Given the description of an element on the screen output the (x, y) to click on. 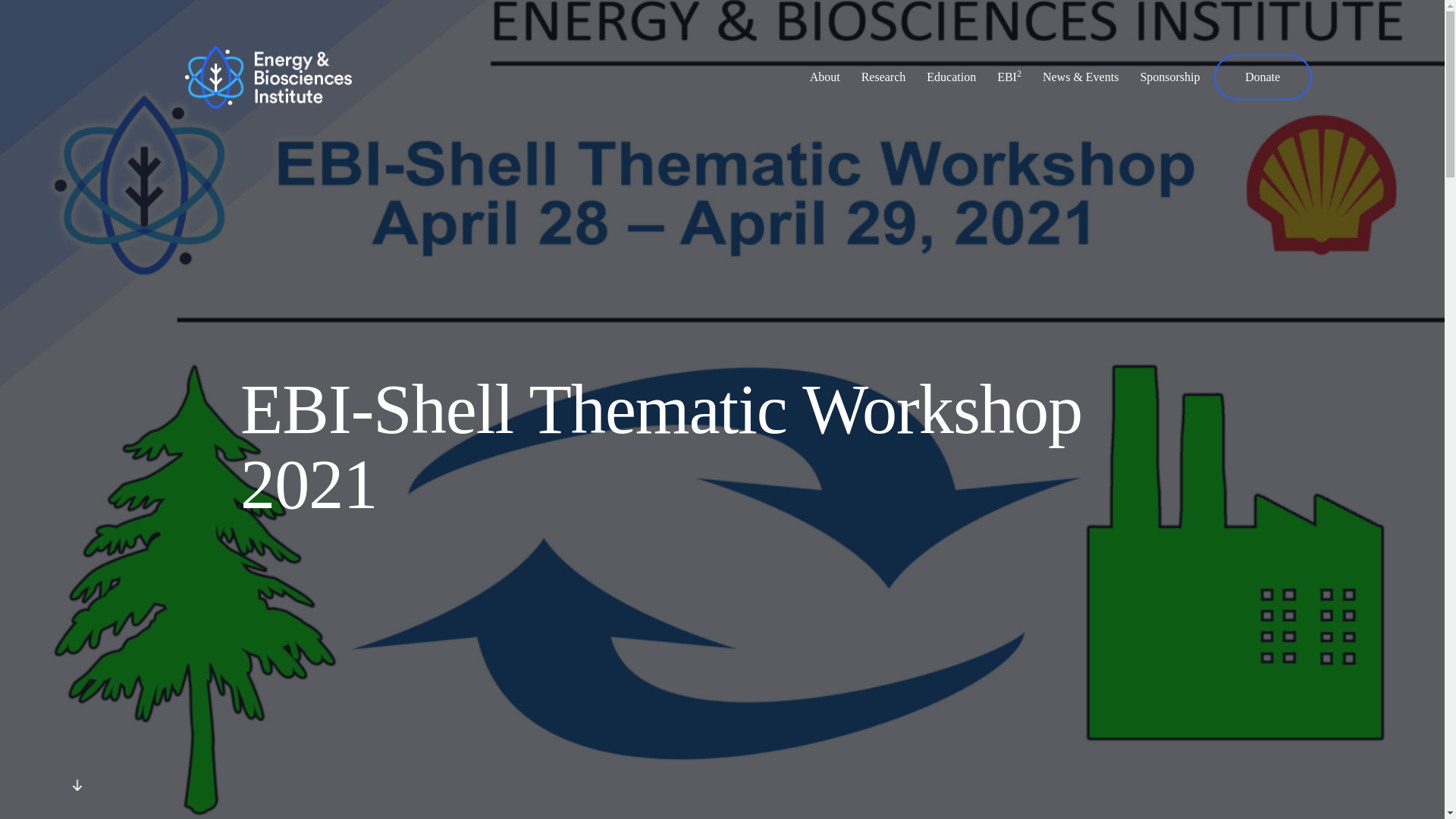
Education (951, 77)
Research (883, 77)
Donate (1261, 76)
About (824, 77)
EBI2 (1009, 77)
Sponsorship (1169, 77)
